Given the description of an element on the screen output the (x, y) to click on. 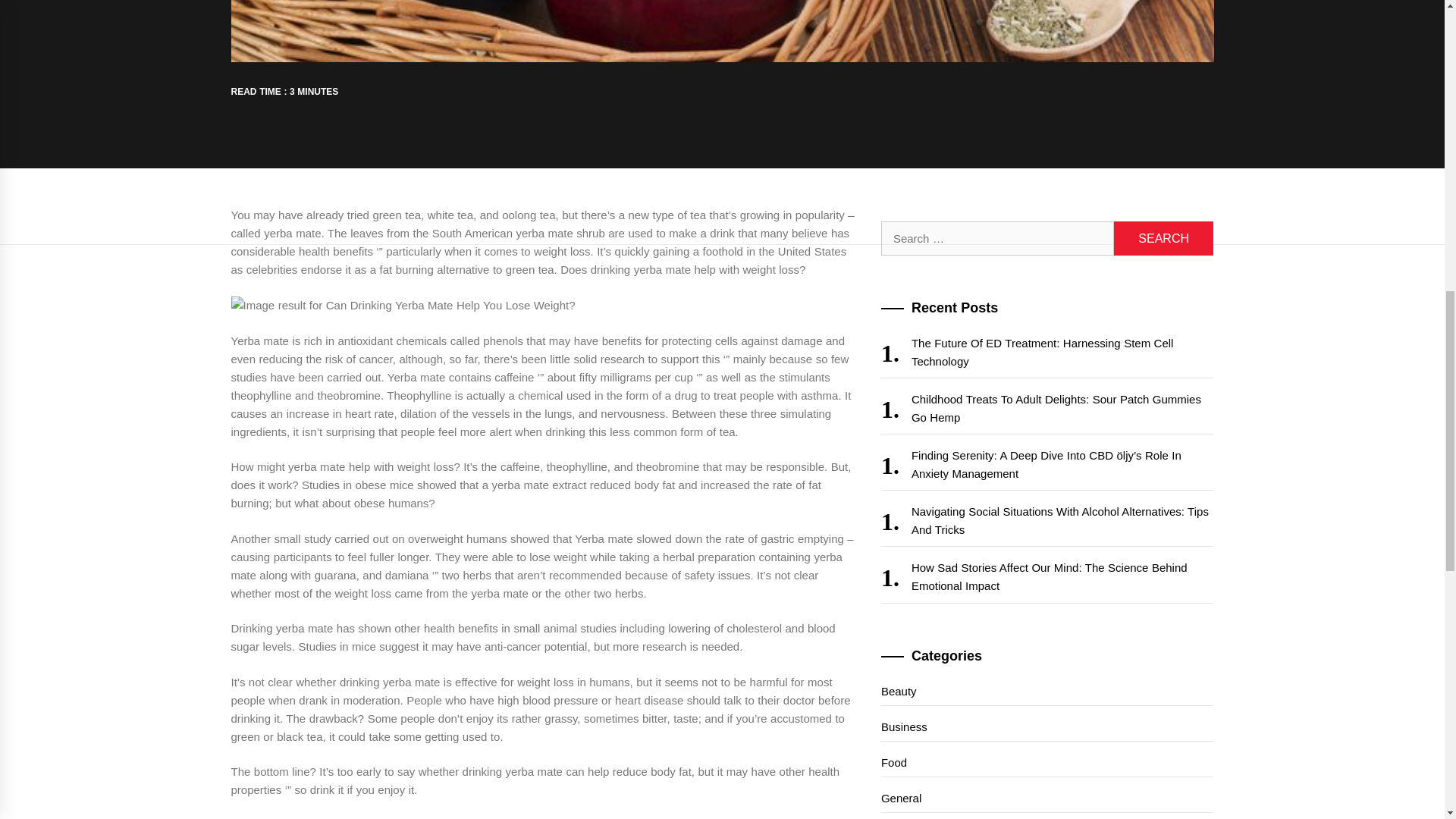
The Future Of ED Treatment: Harnessing Stem Cell Technology (1047, 354)
Beauty (1047, 691)
Search (1163, 238)
Search (1163, 238)
Search (1163, 238)
